Given the description of an element on the screen output the (x, y) to click on. 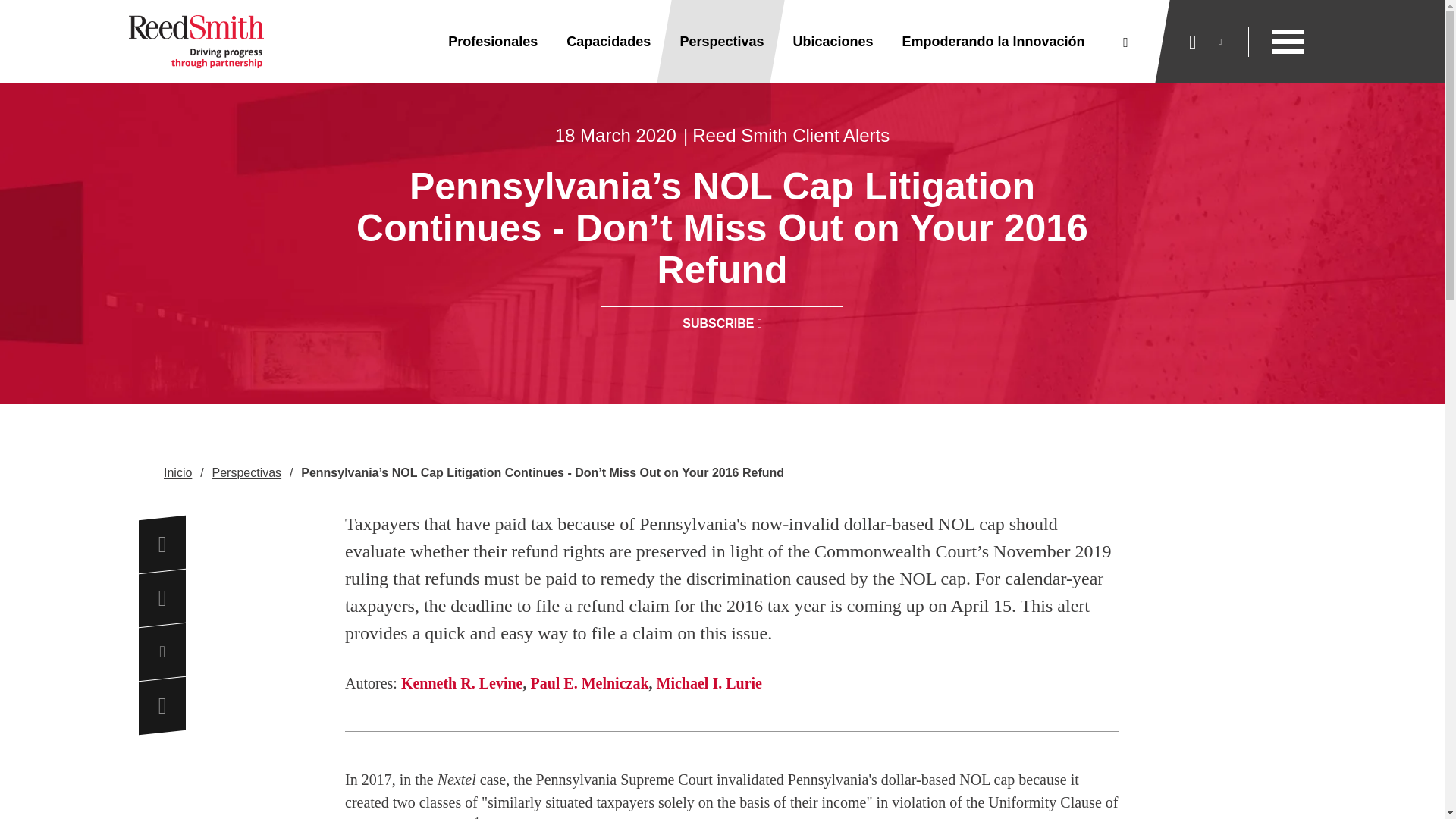
Capacidades (608, 41)
Profesionales (492, 41)
